Given the description of an element on the screen output the (x, y) to click on. 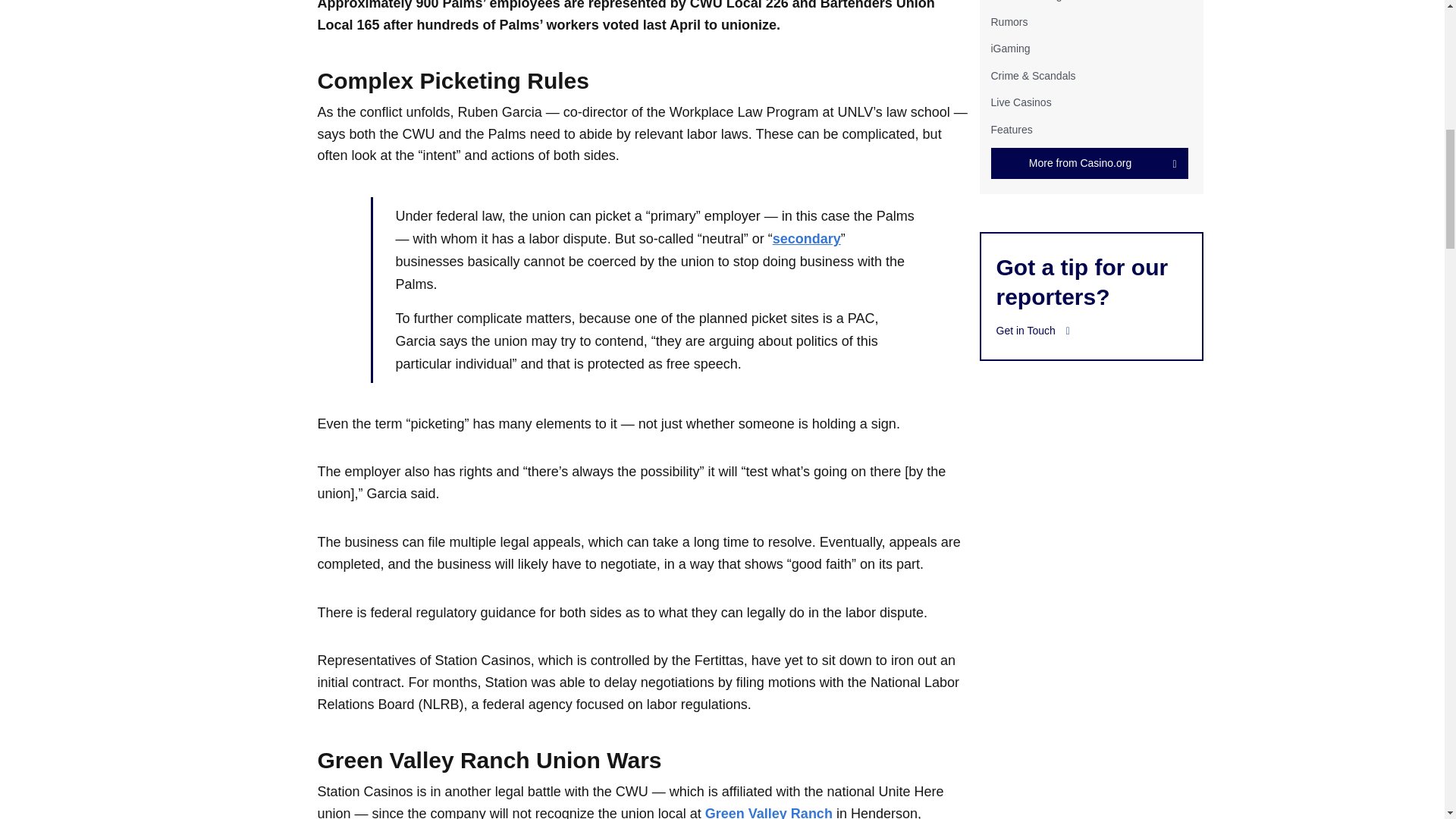
Green Valley Ranch (768, 812)
iGaming (1009, 48)
Live Casinos (1020, 102)
Rumors (1008, 21)
Features (1011, 128)
Mobile Gaming (1025, 0)
secondary (807, 238)
